Given the description of an element on the screen output the (x, y) to click on. 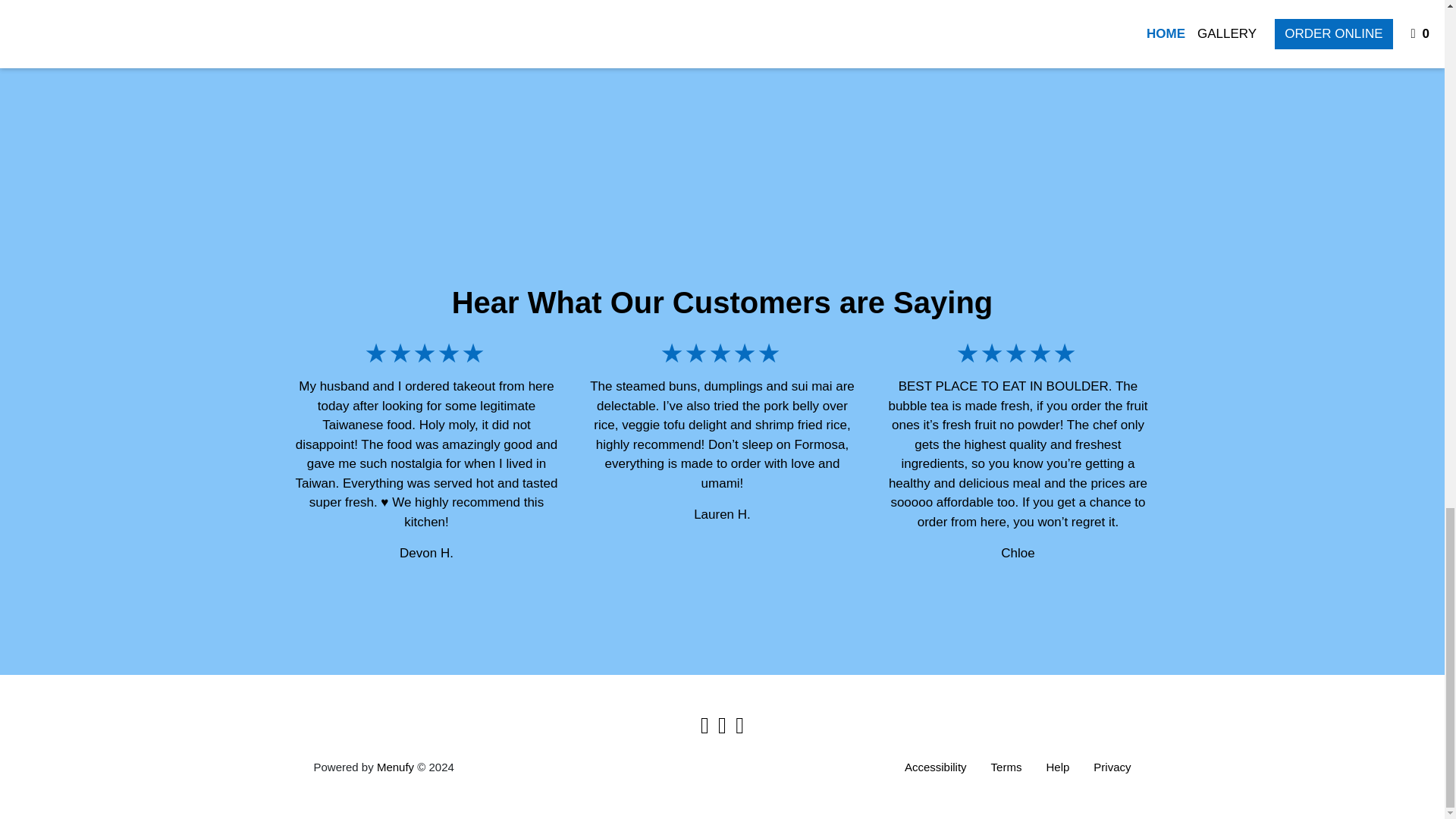
Help (1057, 767)
Menufy (395, 766)
Accessibility (935, 767)
Terms (1005, 767)
Privacy (1111, 767)
